Given the description of an element on the screen output the (x, y) to click on. 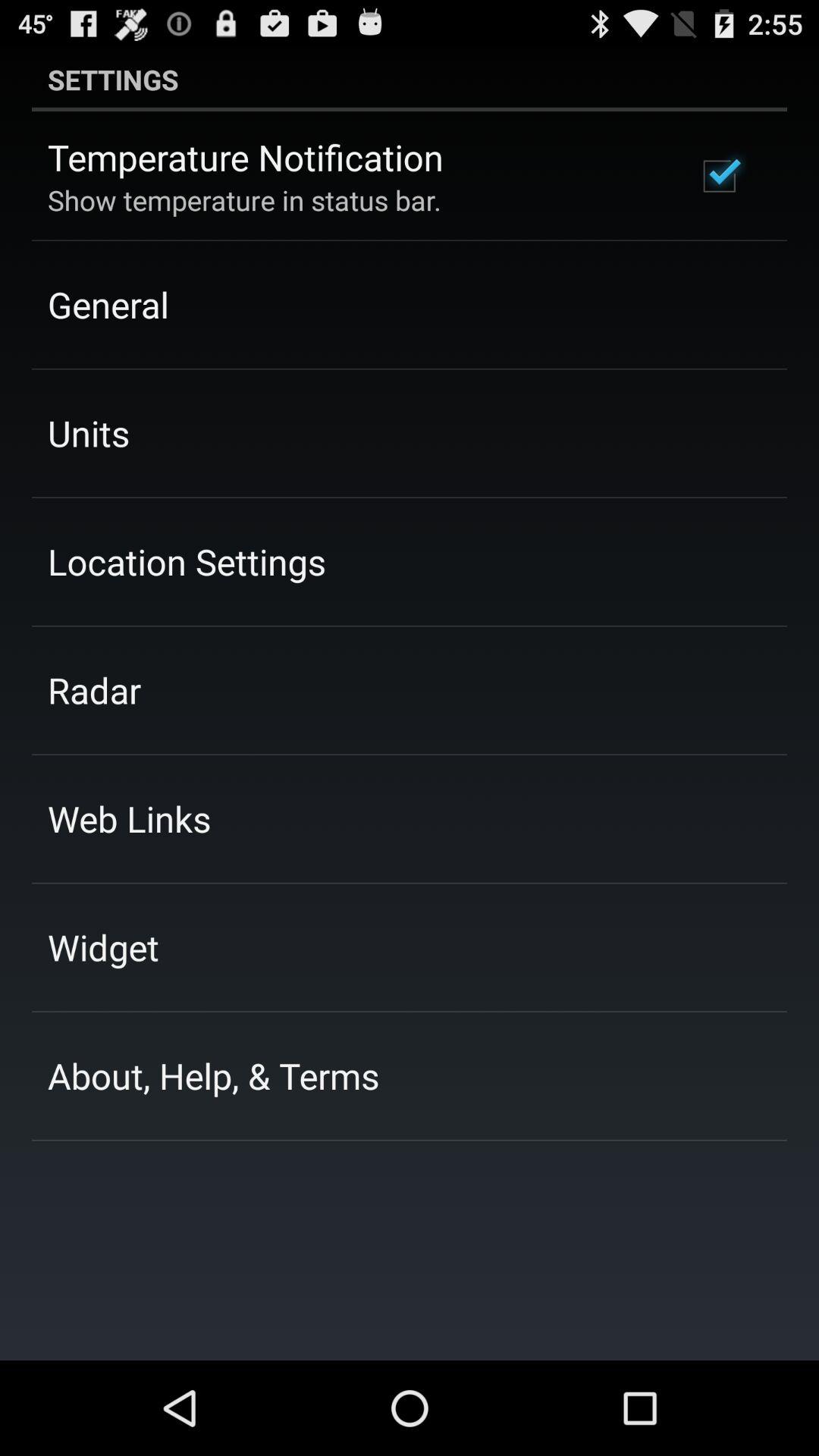
swipe until the general item (107, 304)
